Given the description of an element on the screen output the (x, y) to click on. 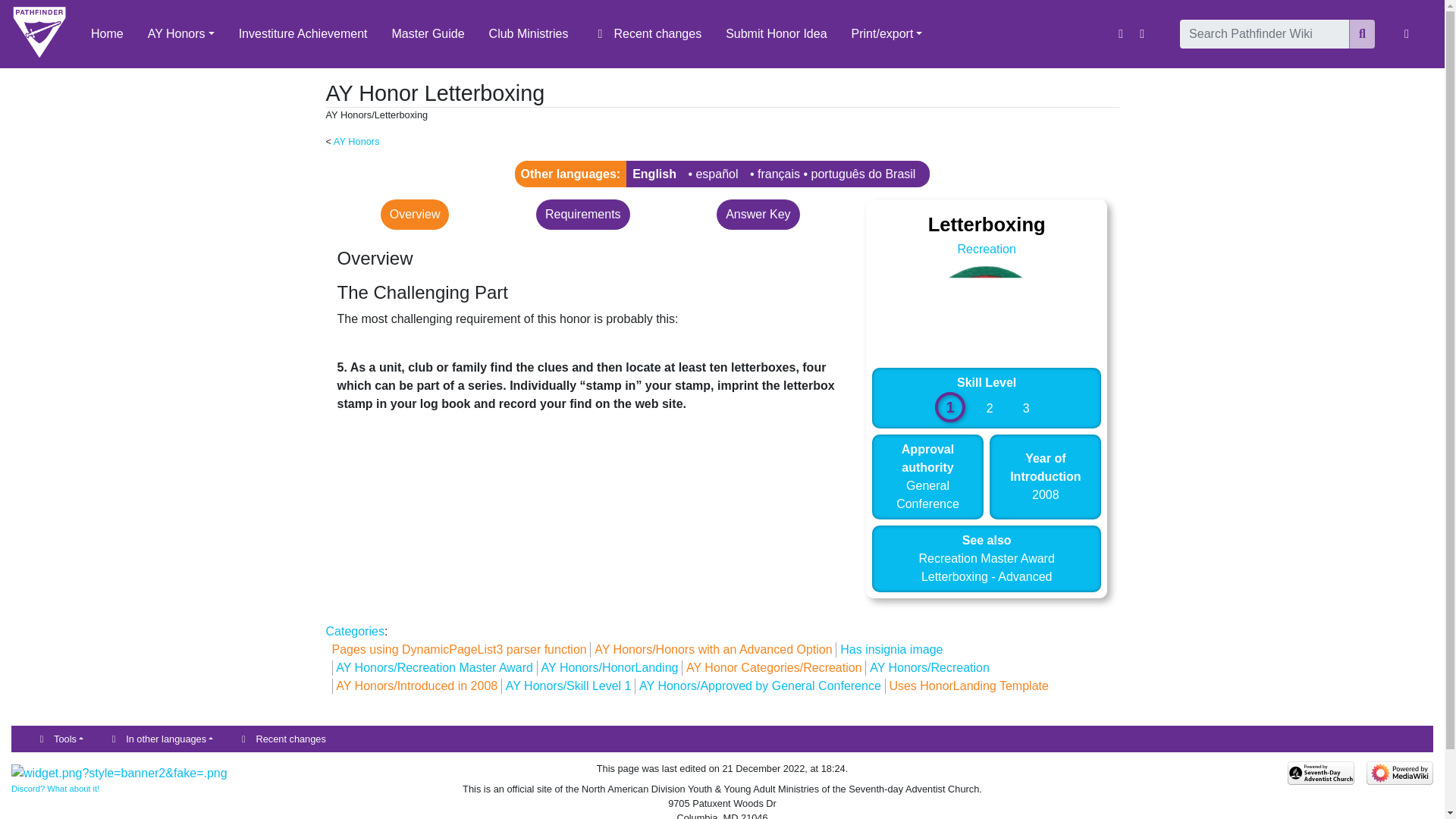
Recreation (985, 248)
Go to a page with this exact name if it exists (1361, 33)
AY Honors (356, 141)
Investiture Achievement (303, 33)
Club Ministries (528, 33)
Go (1361, 33)
Visit the main page (38, 33)
Submit Honor Idea (775, 33)
AY Honors (181, 33)
Start translation for this language (778, 173)
